Given the description of an element on the screen output the (x, y) to click on. 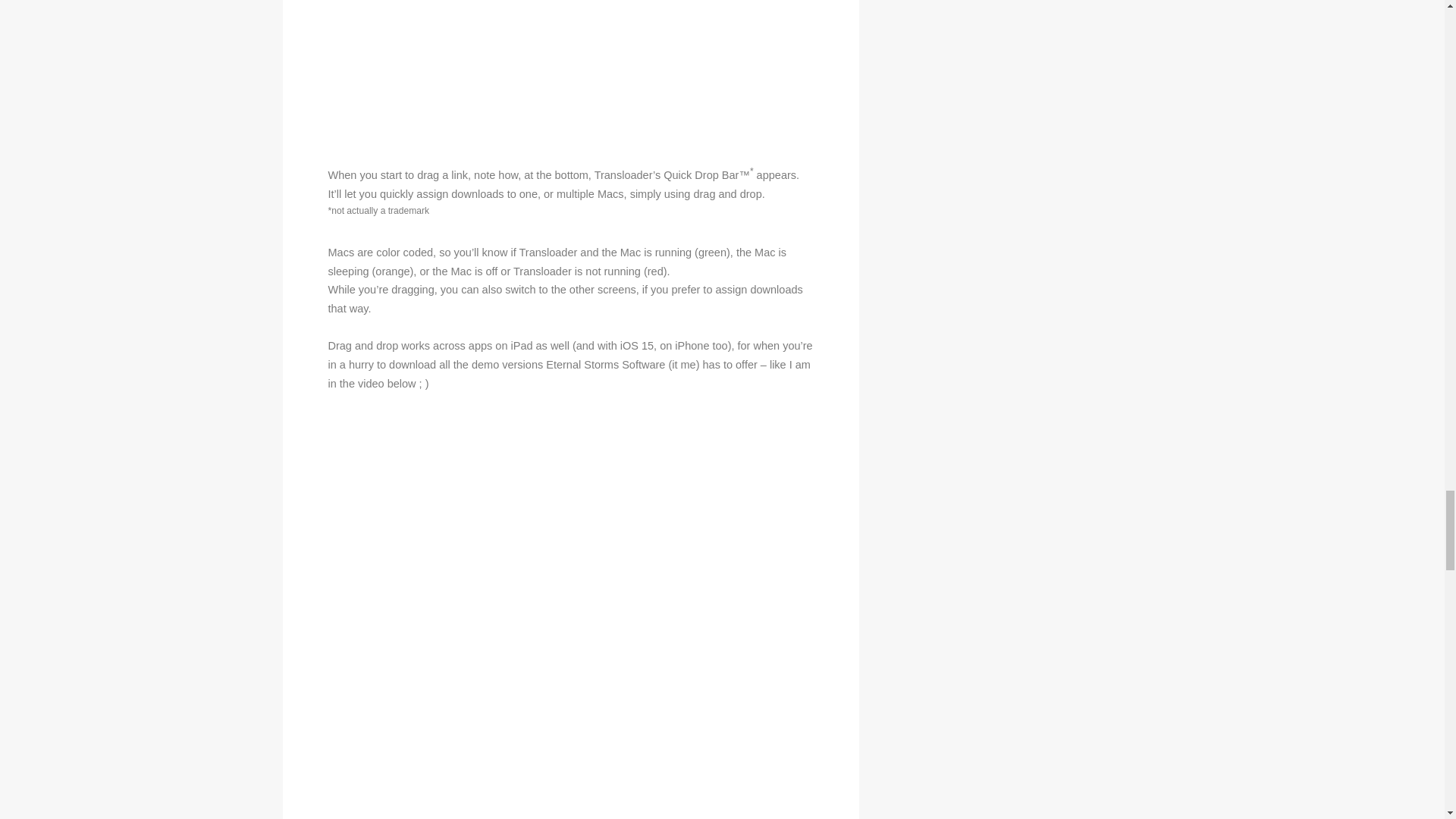
Transloader iOS Demo - Drag and Drop (569, 73)
